Given the description of an element on the screen output the (x, y) to click on. 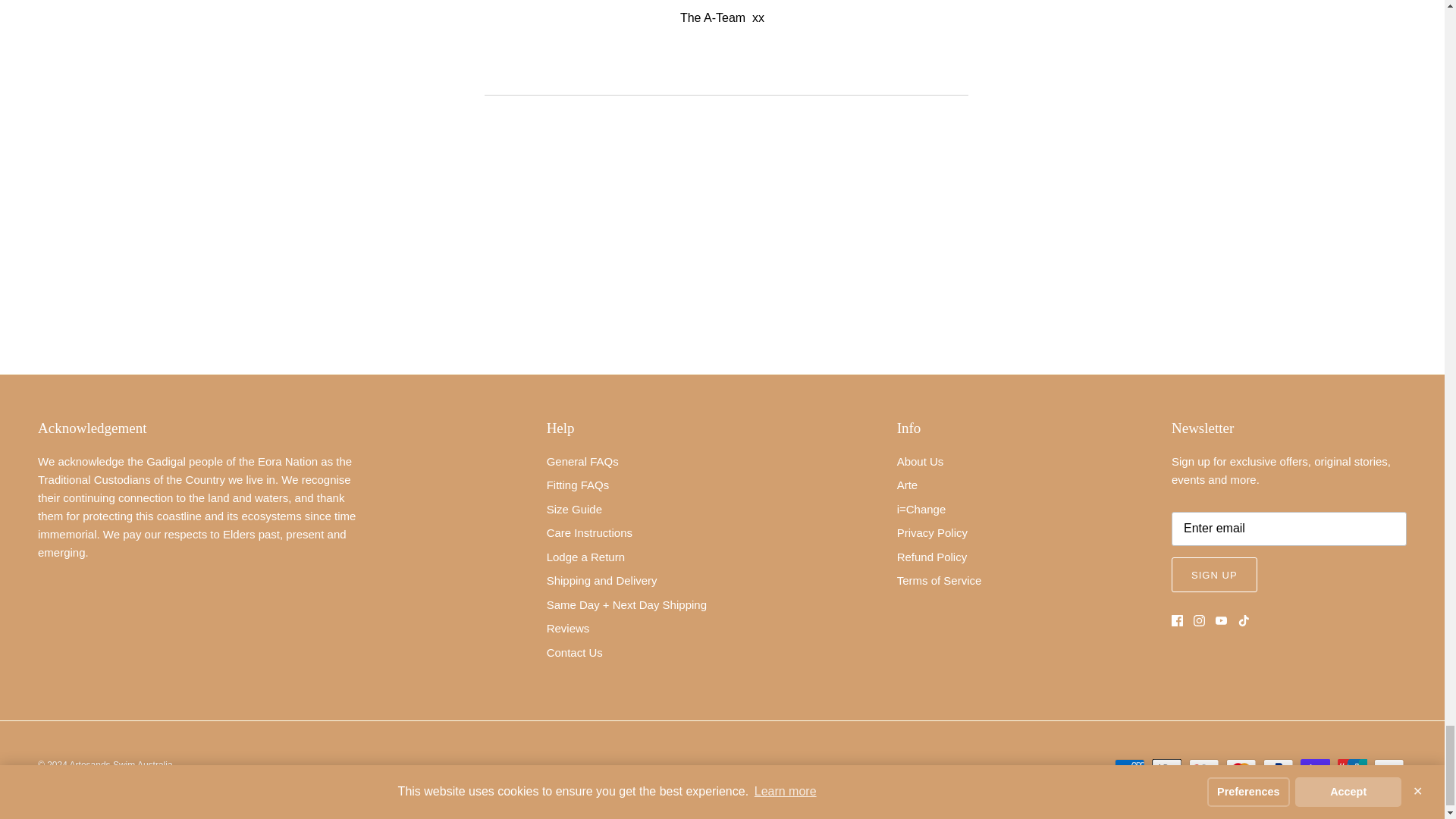
PayPal (1277, 768)
Instagram (1199, 620)
Shop Pay (1315, 768)
American Express (1129, 768)
Apple Pay (1166, 768)
Facebook (1177, 620)
Youtube (1221, 620)
Visa (1388, 768)
Mastercard (1240, 768)
Google Pay (1203, 768)
Union Pay (1352, 768)
